Given the description of an element on the screen output the (x, y) to click on. 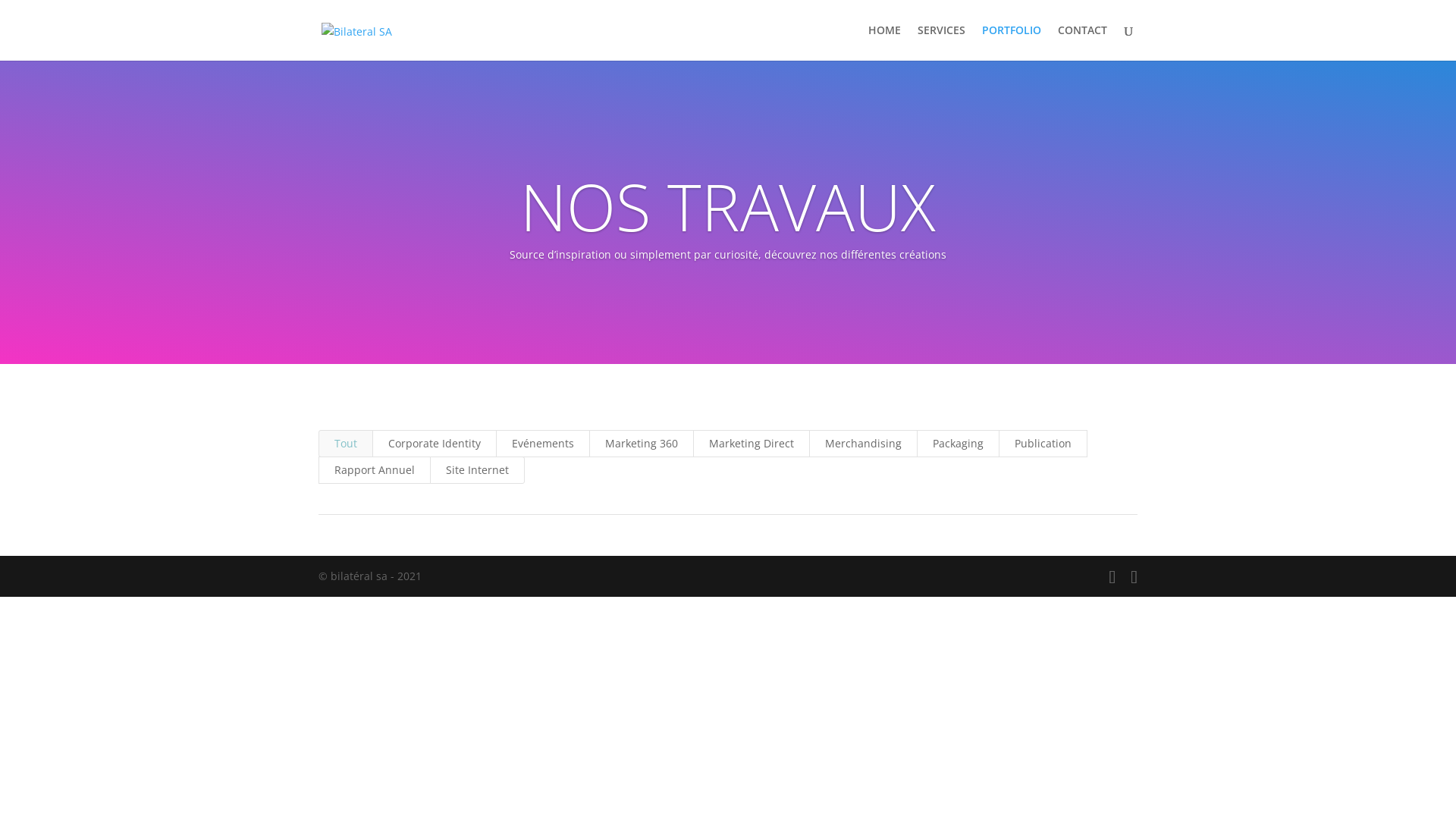
Tout Element type: text (345, 443)
SERVICES Element type: text (941, 42)
Site Internet Element type: text (476, 469)
Packaging Element type: text (957, 443)
HOME Element type: text (884, 42)
Merchandising Element type: text (863, 443)
Marketing Direct Element type: text (751, 443)
Rapport Annuel Element type: text (374, 469)
Corporate Identity Element type: text (434, 443)
Publication Element type: text (1042, 443)
PORTFOLIO Element type: text (1011, 42)
Marketing 360 Element type: text (641, 443)
CONTACT Element type: text (1082, 42)
